Given the description of an element on the screen output the (x, y) to click on. 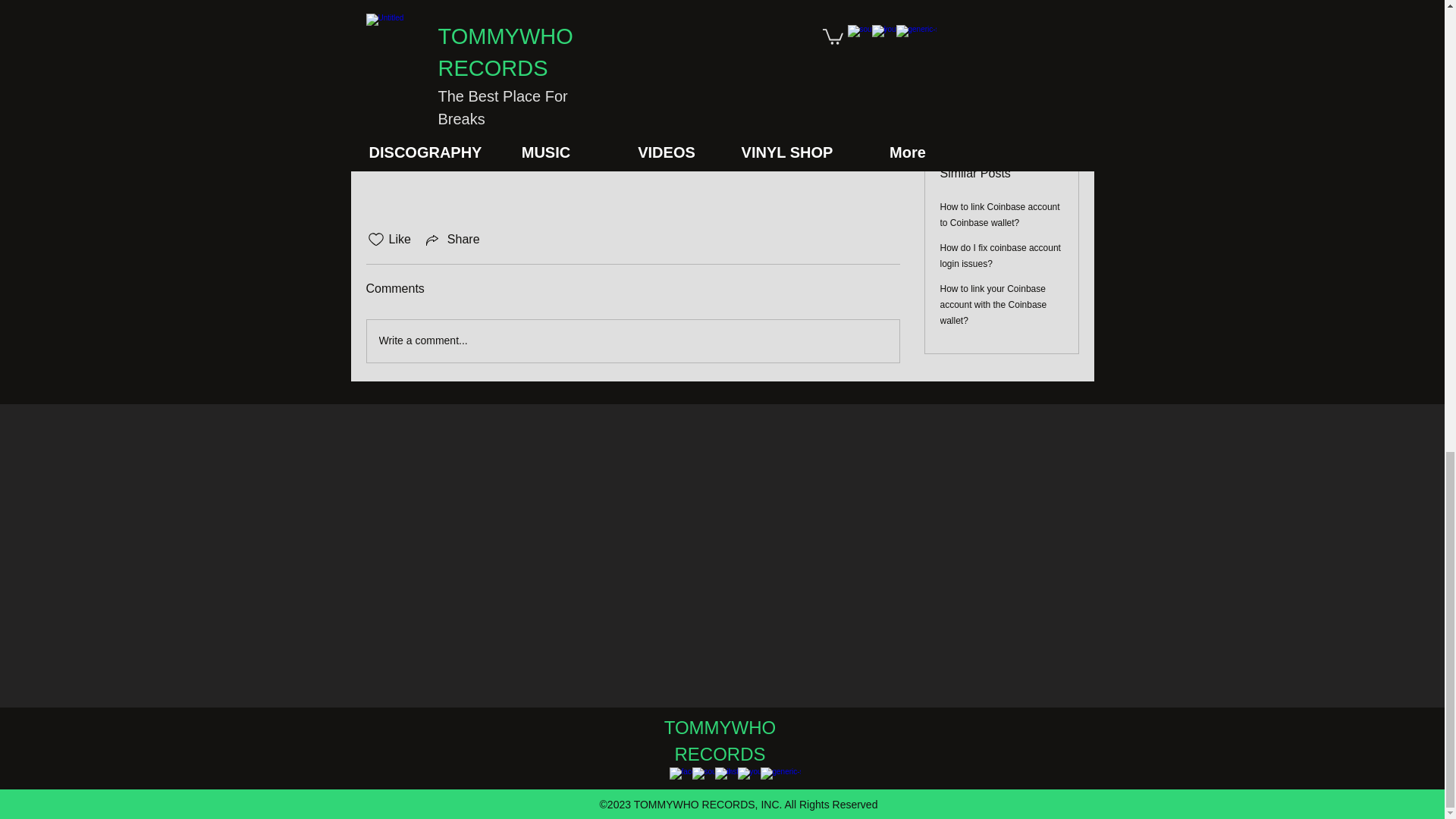
Write a comment... (632, 341)
Share (451, 239)
